Given the description of an element on the screen output the (x, y) to click on. 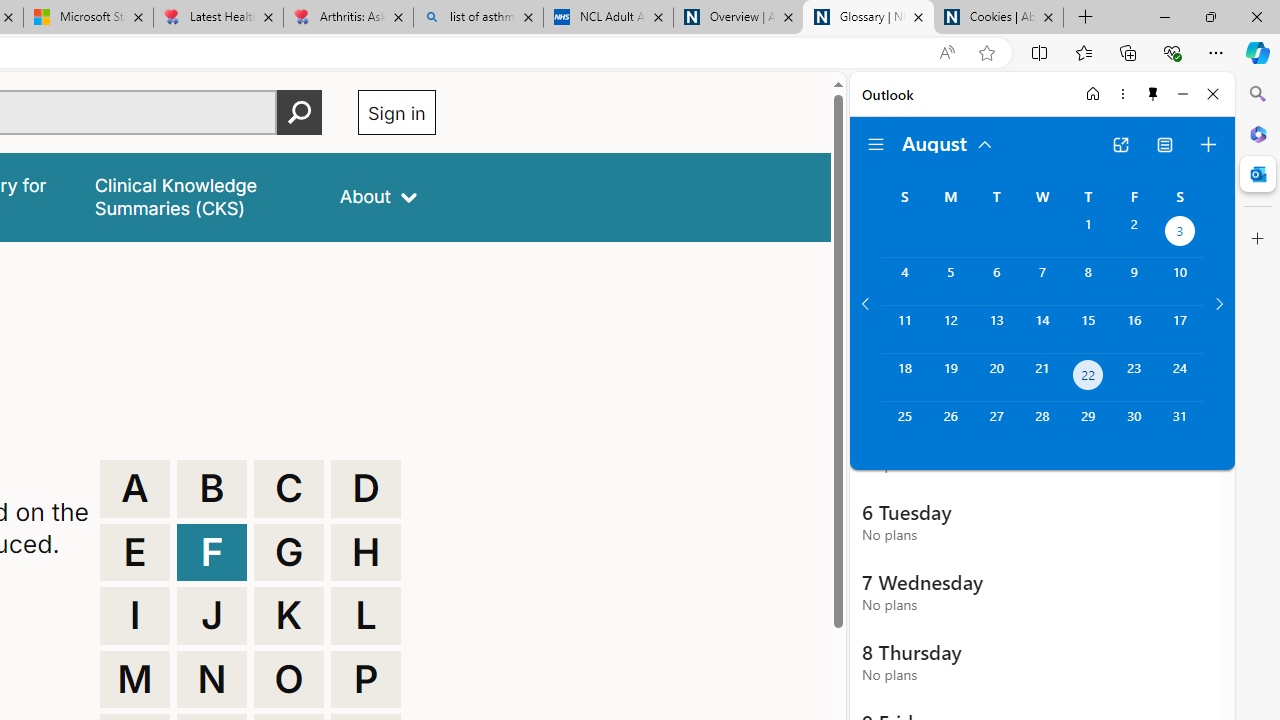
false (198, 196)
E (134, 551)
J (212, 615)
Wednesday, August 7, 2024.  (1042, 281)
Wednesday, August 21, 2024.  (1042, 377)
L (365, 615)
A (134, 488)
F (212, 551)
Saturday, August 24, 2024.  (1180, 377)
N (212, 679)
